Given the description of an element on the screen output the (x, y) to click on. 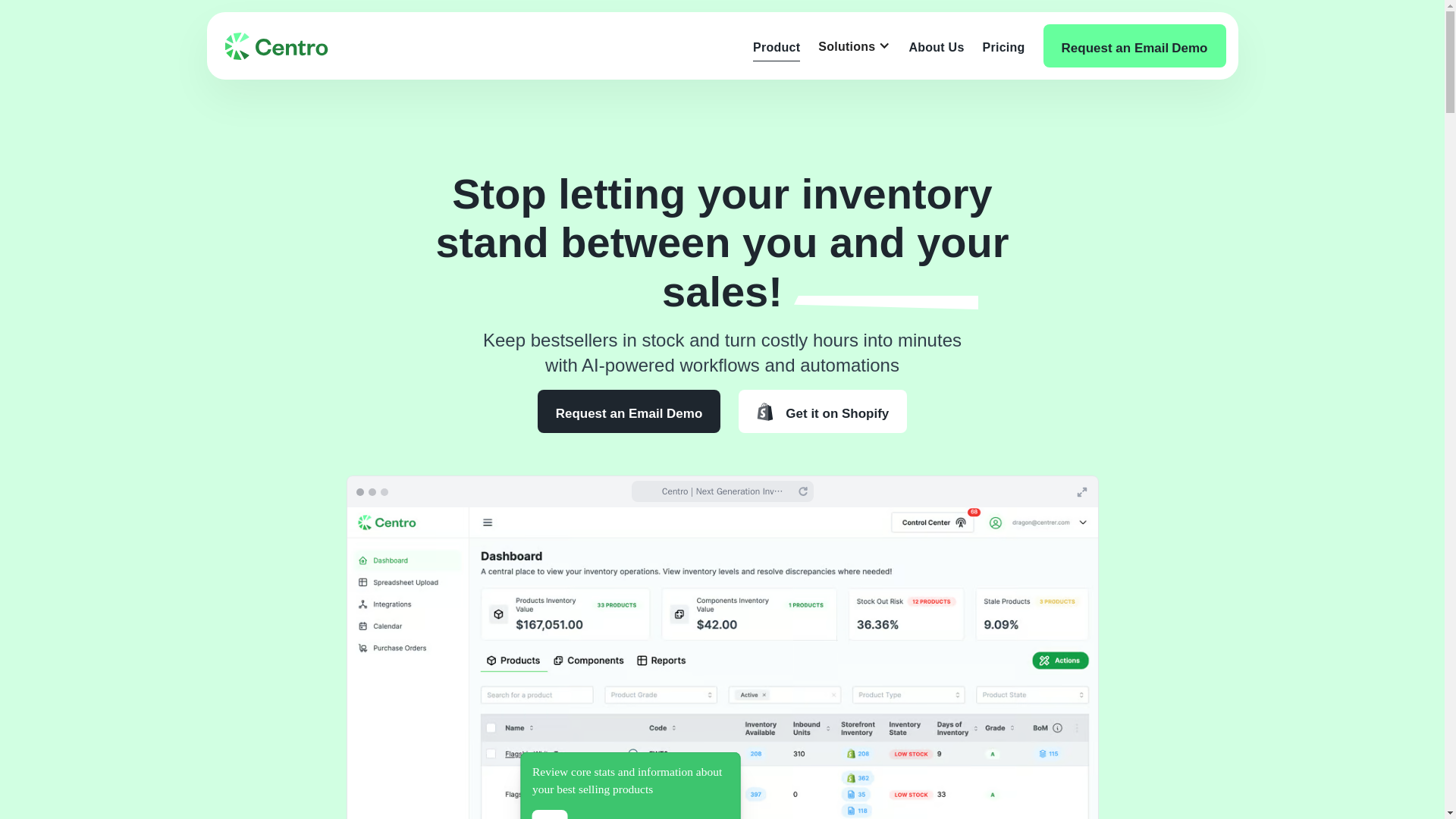
Request an Email Demo (628, 411)
Product (775, 45)
About Us (935, 45)
Get it on Shopify (822, 411)
Pricing (1003, 45)
